Given the description of an element on the screen output the (x, y) to click on. 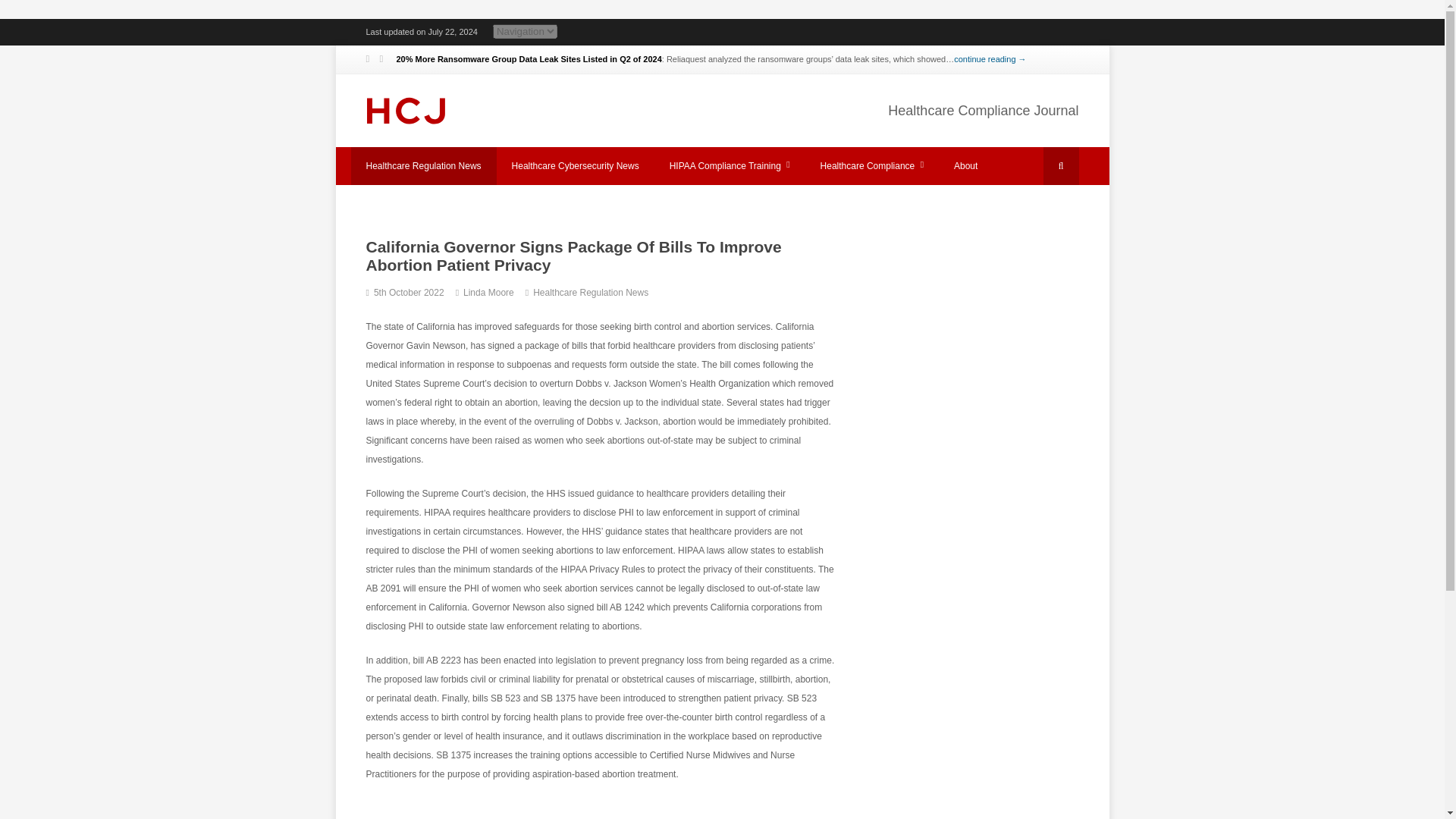
HIPAA Compliance Training (729, 166)
Healthcare Regulation News (423, 166)
Healthcare Regulation News (589, 292)
continue reading (989, 58)
Linda Moore (488, 292)
About (965, 166)
Healthcare Cybersecurity News (574, 166)
Healthcare Compliance (872, 166)
Toggle Search (1060, 166)
Healthcare Regulation News (589, 292)
Posts by Linda Moore (488, 292)
